Given the description of an element on the screen output the (x, y) to click on. 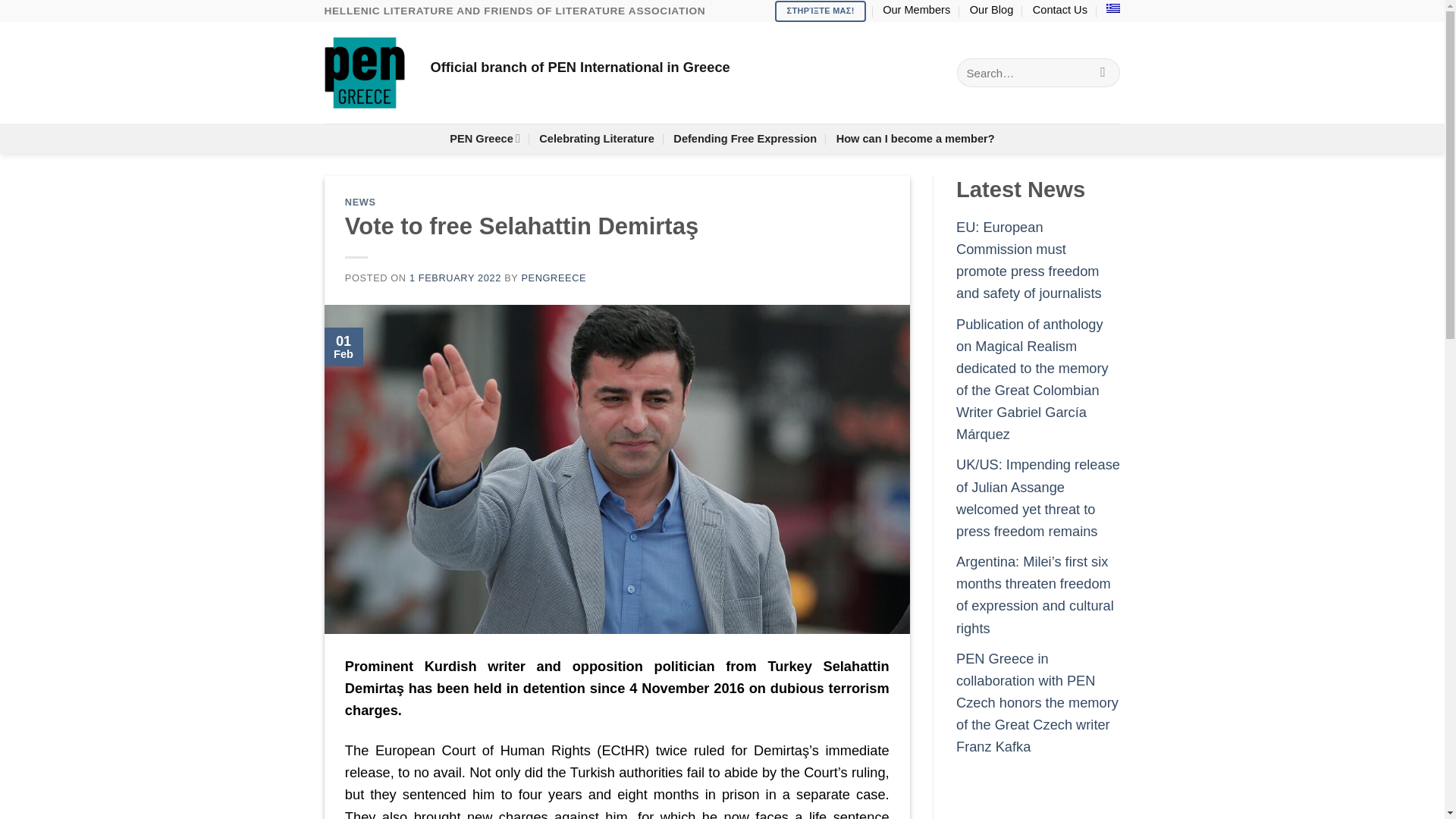
Celebrating Literature (595, 138)
Our Blog (991, 9)
NEWS (360, 202)
PEN Greece (484, 138)
How can I become a member? (914, 138)
Contact Us (1059, 9)
Our Members (916, 9)
PENGREECE (553, 277)
Defending Free Expression (744, 138)
1 FEBRUARY 2022 (454, 277)
